Given the description of an element on the screen output the (x, y) to click on. 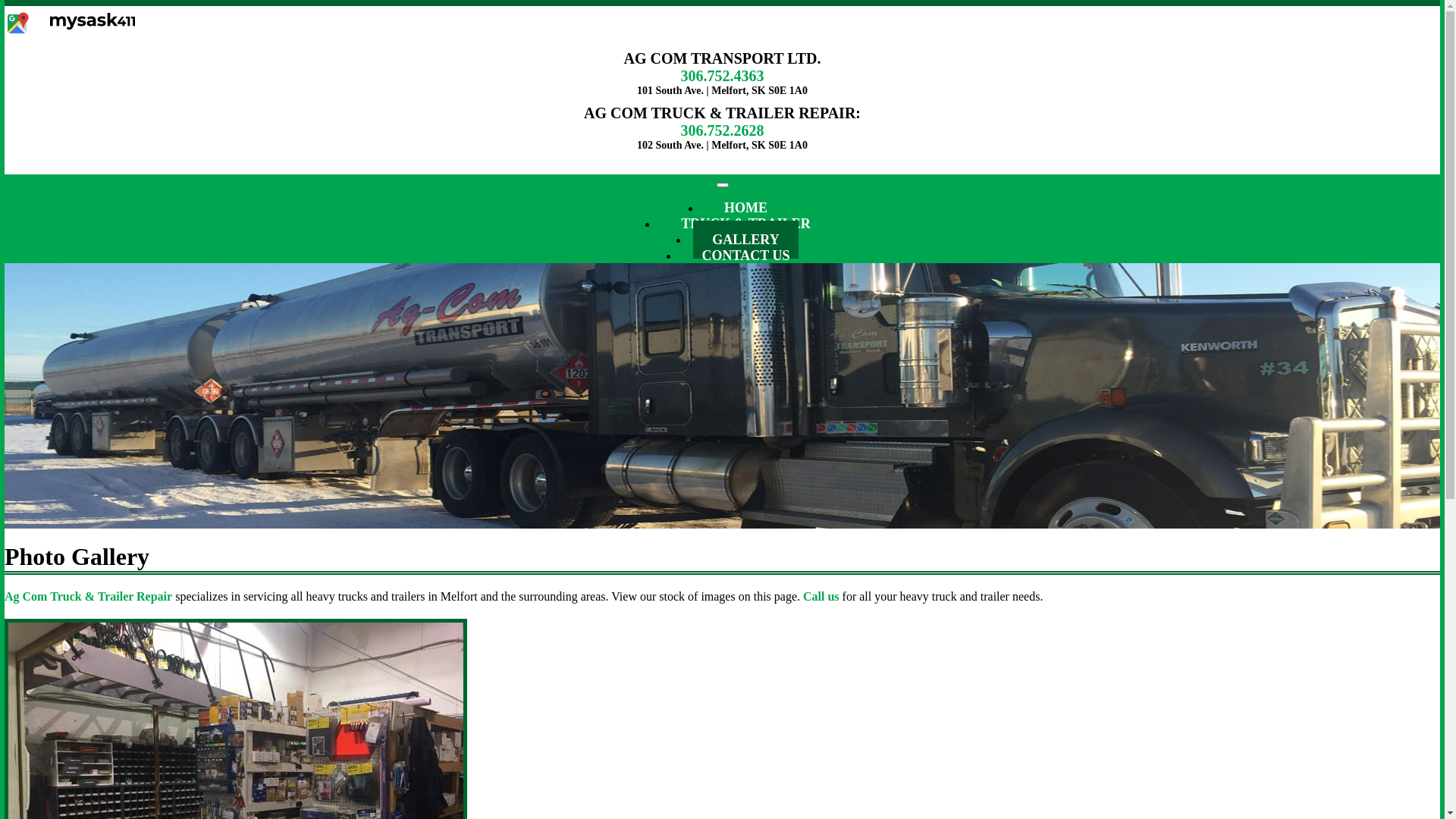
Ag Com Truck & Trailer Repair Element type: text (88, 595)
306.752.2628 Element type: text (722, 130)
306.752.4363 Element type: text (722, 75)
GALLERY Element type: text (745, 239)
CONTACT US Element type: text (746, 255)
MySask Element type: hover (92, 21)
Feature image Element type: hover (722, 395)
HOME Element type: text (745, 207)
Call us Element type: text (821, 595)
TRUCK & TRAILER Element type: text (745, 223)
